Given the description of an element on the screen output the (x, y) to click on. 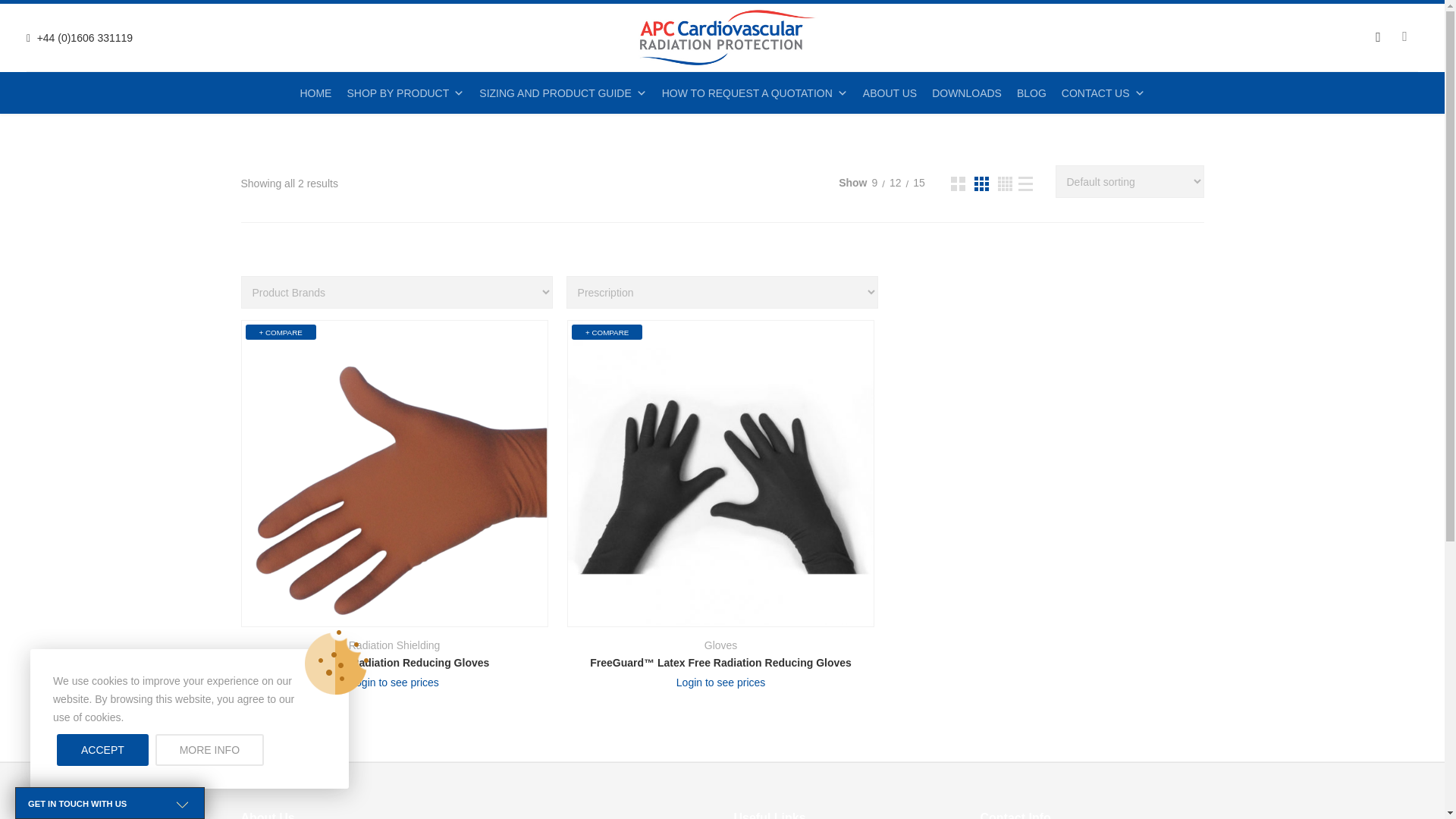
Grid view (981, 183)
Grid view (1004, 183)
List view (1024, 183)
Grid view (957, 183)
